Given the description of an element on the screen output the (x, y) to click on. 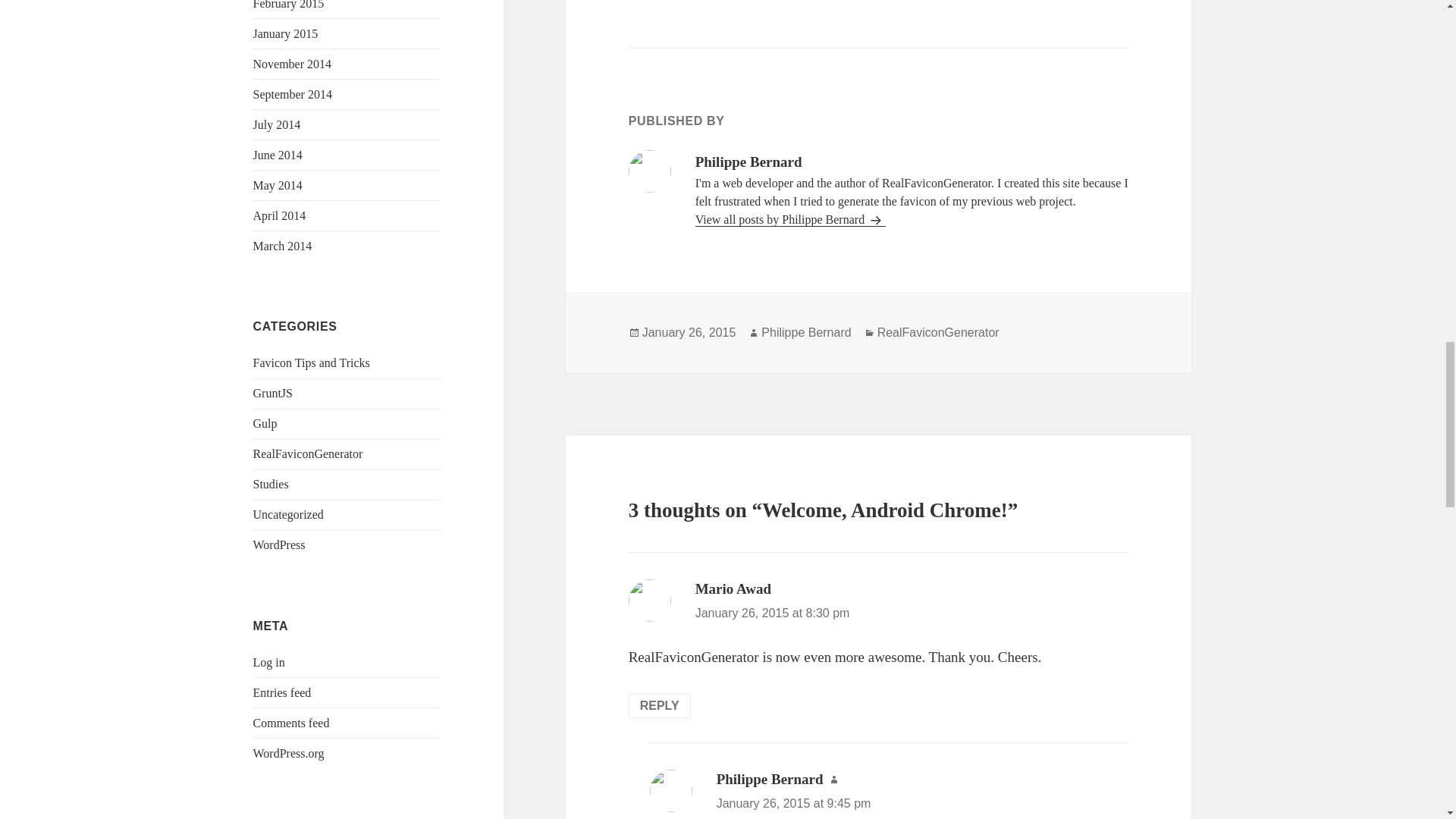
September 2014 (292, 93)
February 2015 (288, 4)
November 2014 (292, 63)
January 2015 (285, 33)
